Given the description of an element on the screen output the (x, y) to click on. 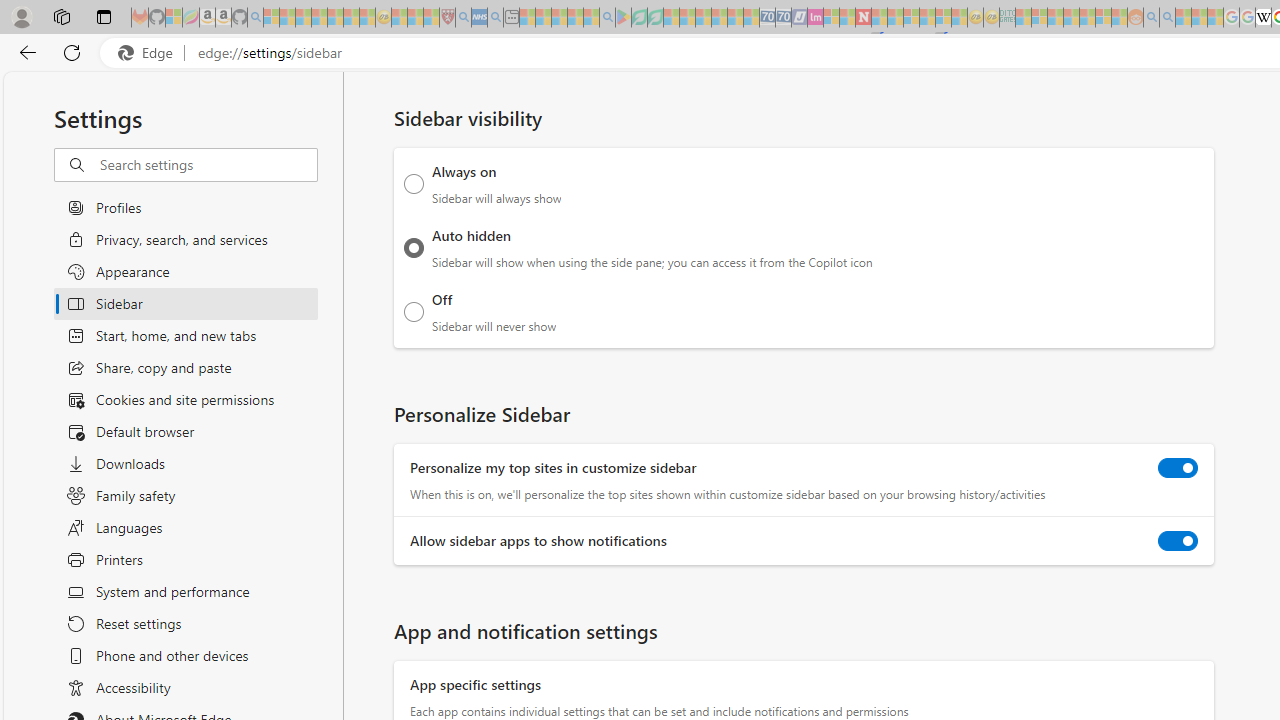
Pets - MSN - Sleeping (575, 17)
Bluey: Let's Play! - Apps on Google Play - Sleeping (623, 17)
Cheap Hotels - Save70.com - Sleeping (783, 17)
Personalize my top sites in customize sidebar (1178, 467)
Always on Sidebar will always show (413, 183)
MSNBC - MSN - Sleeping (1023, 17)
